Given the description of an element on the screen output the (x, y) to click on. 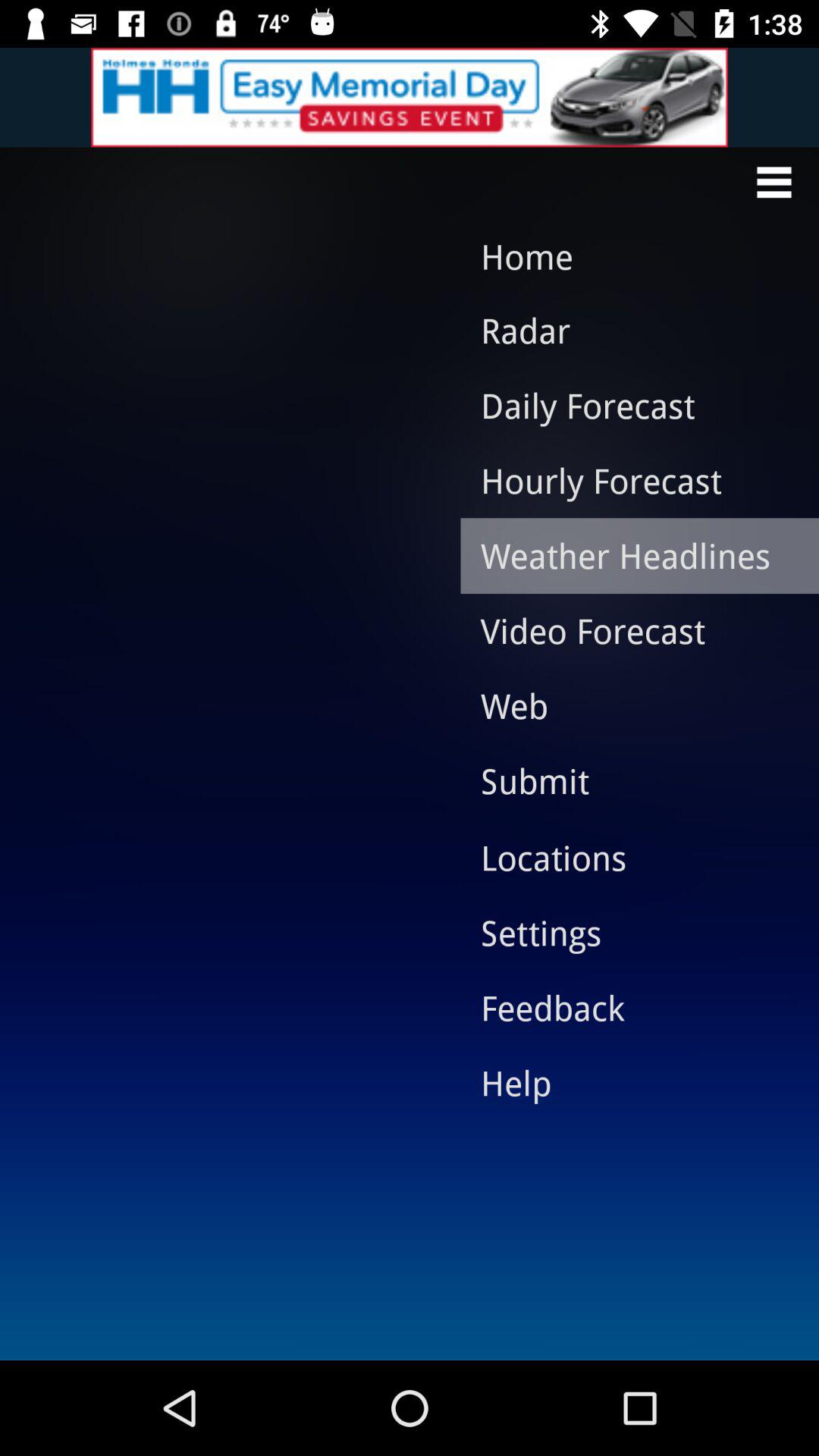
go to advertisement link (409, 97)
